Given the description of an element on the screen output the (x, y) to click on. 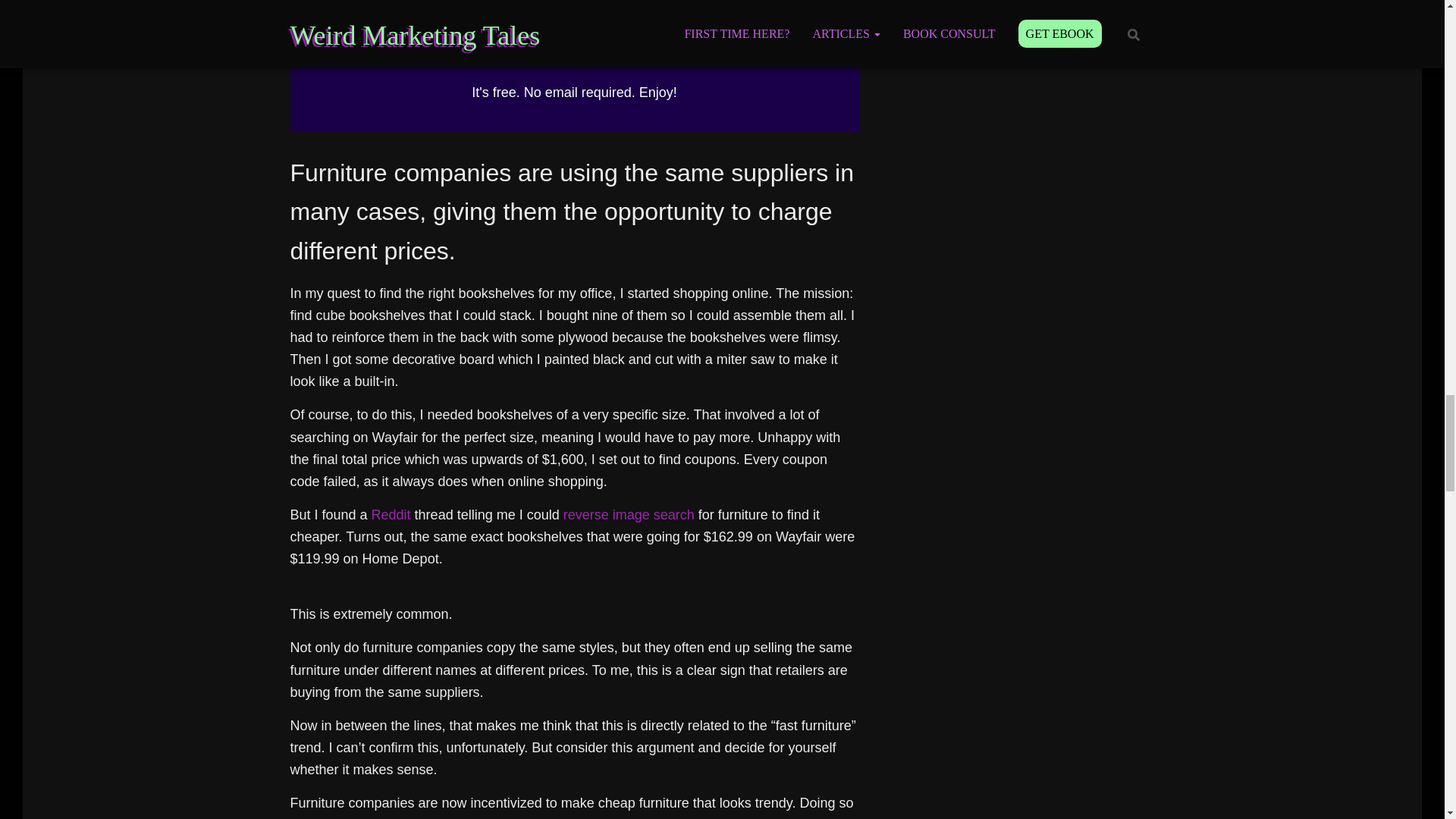
Why People Are Adding REDDIT To Their Google Searches (390, 514)
Reddit (390, 514)
reverse image search (628, 514)
